Given the description of an element on the screen output the (x, y) to click on. 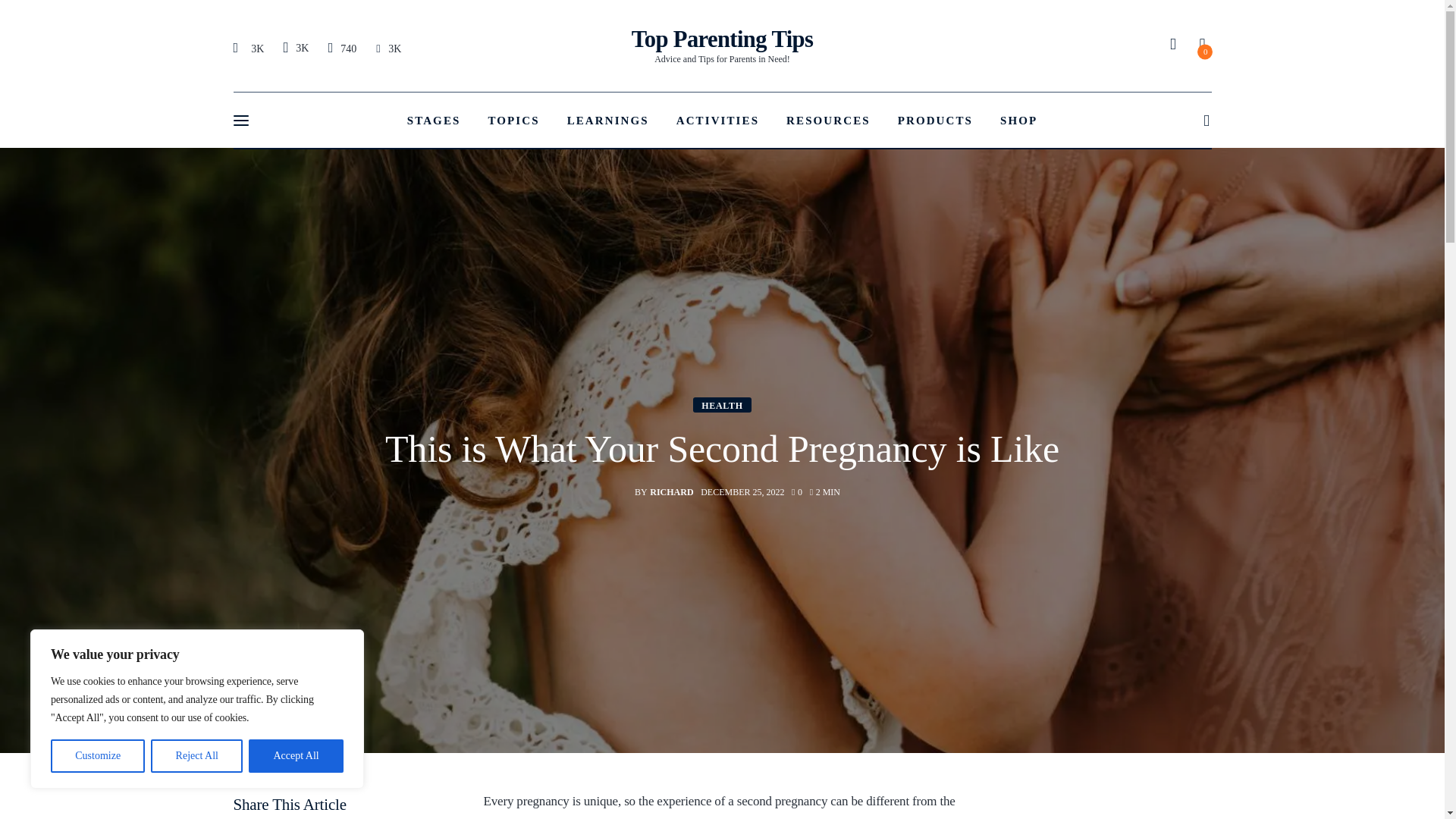
Reject All (197, 756)
STAGES (722, 45)
740 (433, 120)
3K (342, 48)
3K (249, 48)
Accept All (295, 47)
Customize (295, 756)
3K (97, 756)
